Given the description of an element on the screen output the (x, y) to click on. 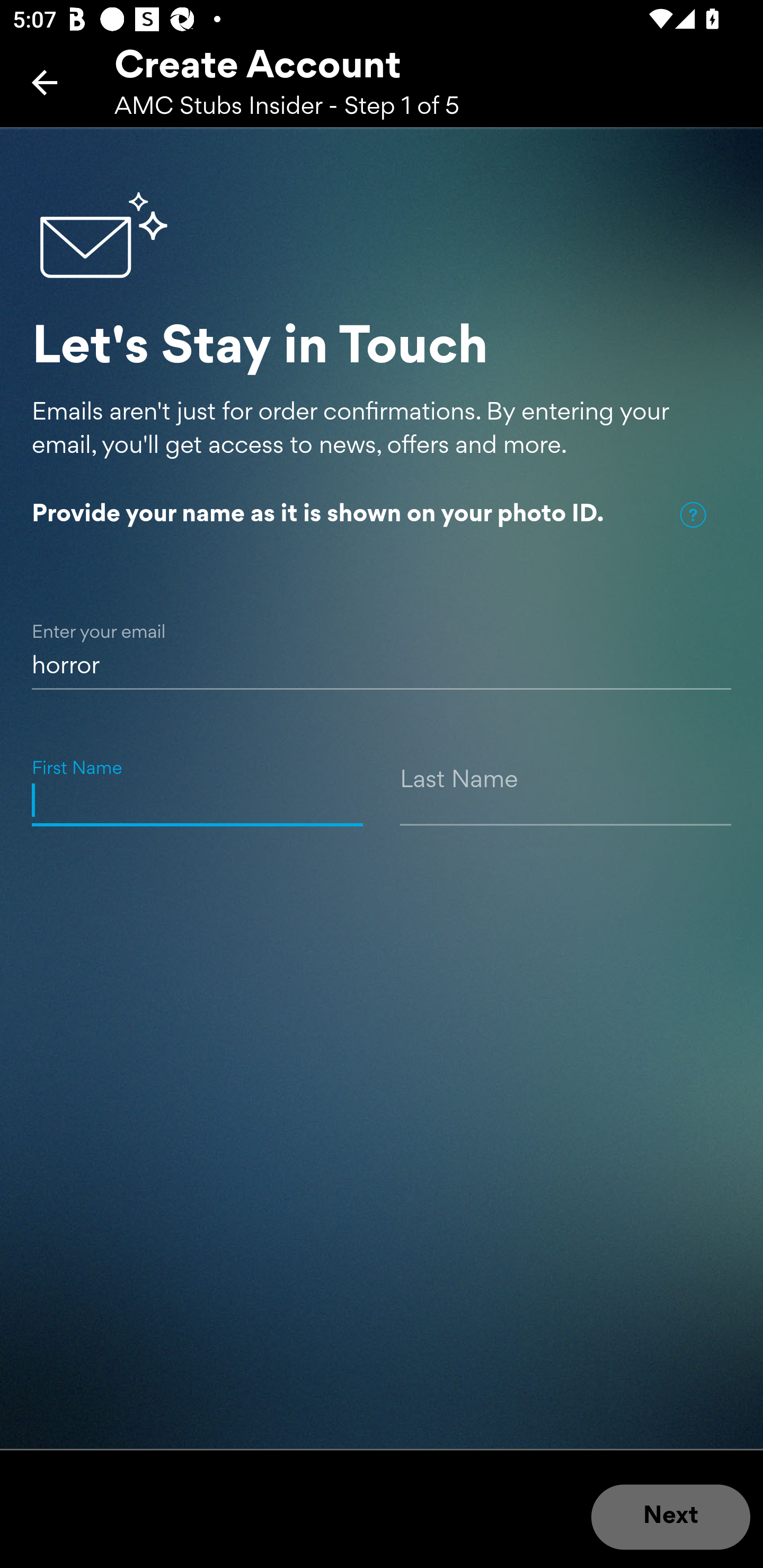
Back (44, 82)
Help (692, 514)
horror (381, 644)
